Given the description of an element on the screen output the (x, y) to click on. 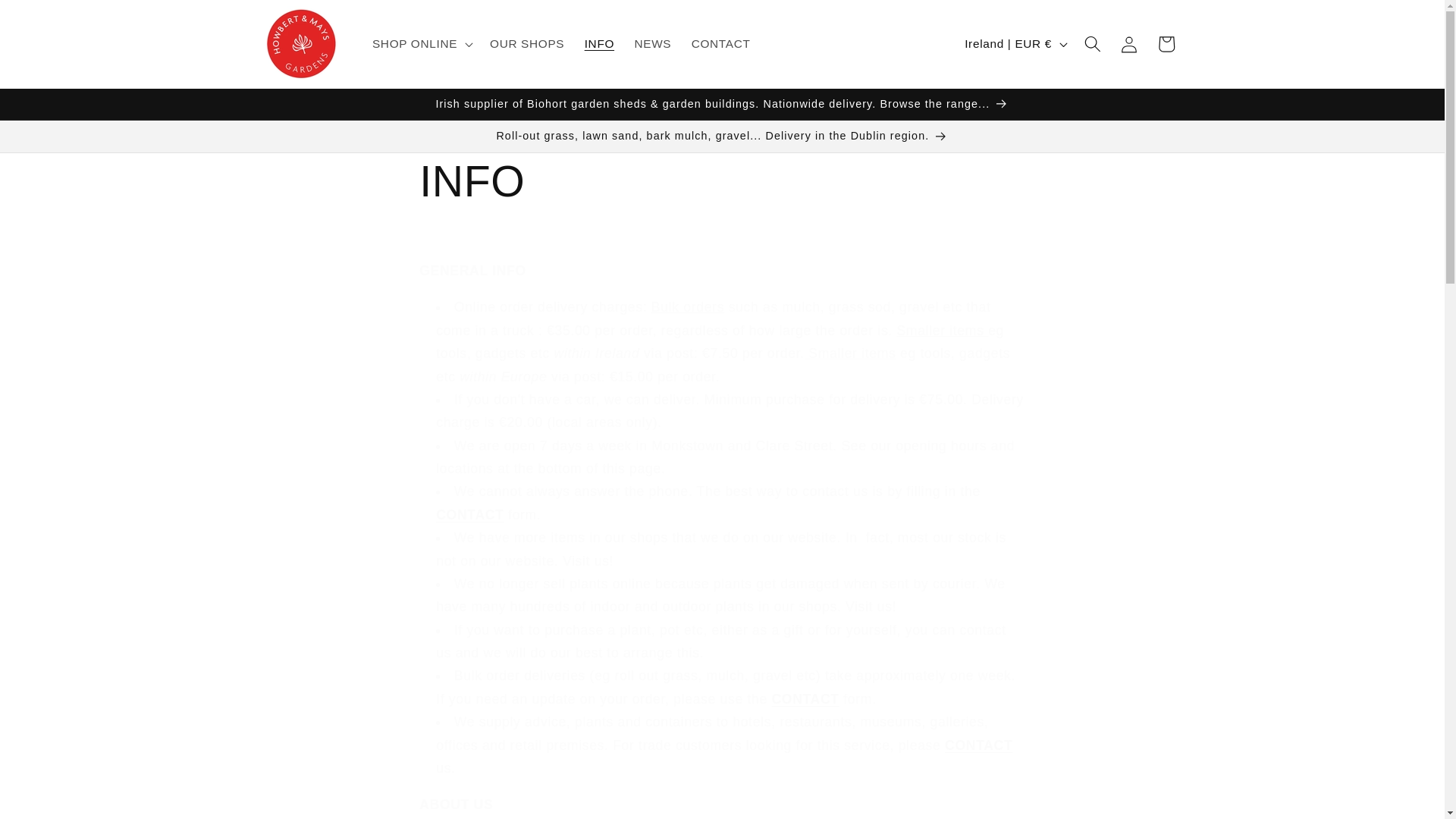
OUR SHOPS (527, 43)
NEWS (652, 43)
CONTACT (720, 43)
INFO (722, 181)
INFO (599, 43)
Skip to content (50, 19)
